Given the description of an element on the screen output the (x, y) to click on. 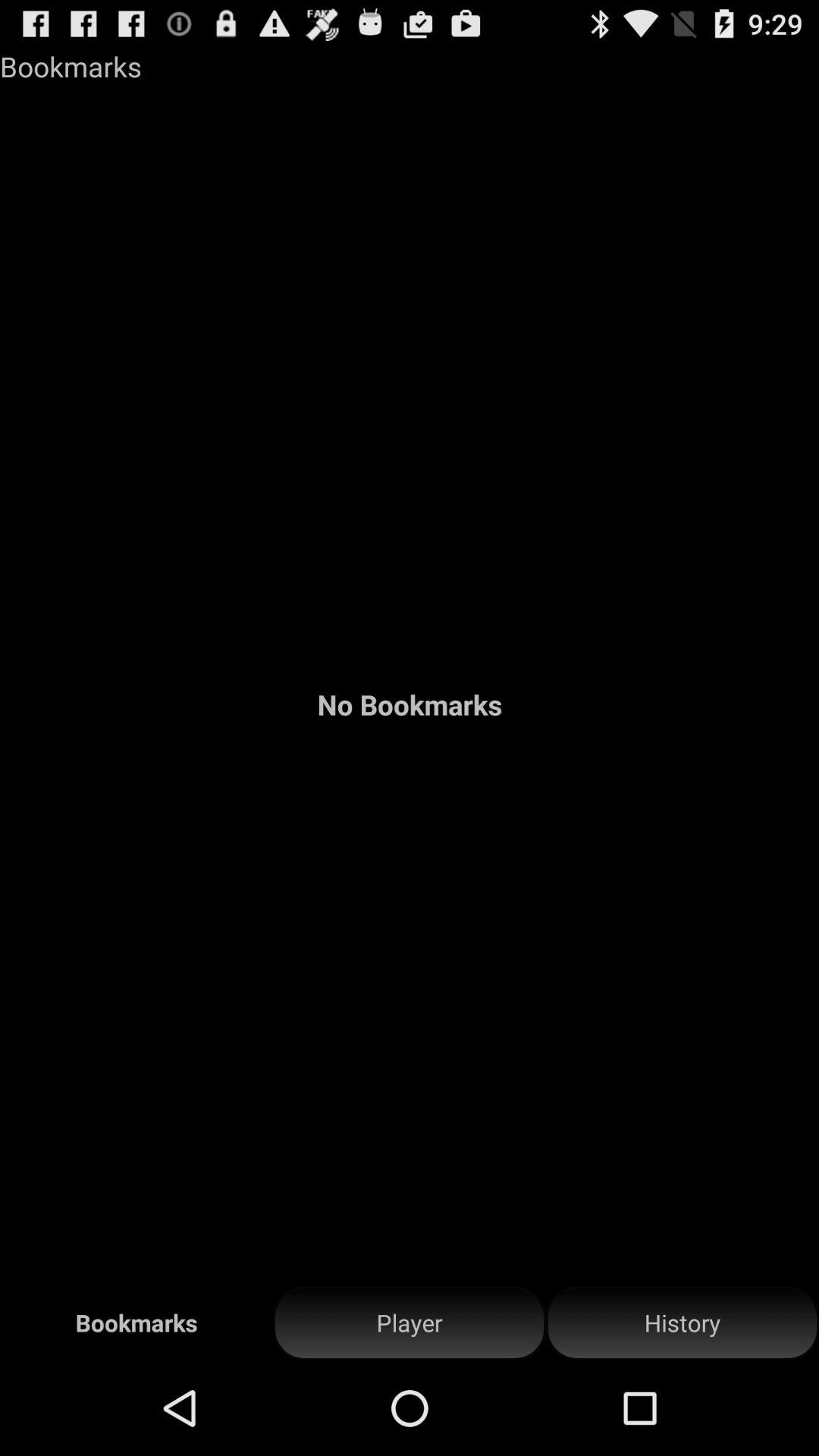
select the icon next to bookmarks item (409, 1323)
